Given the description of an element on the screen output the (x, y) to click on. 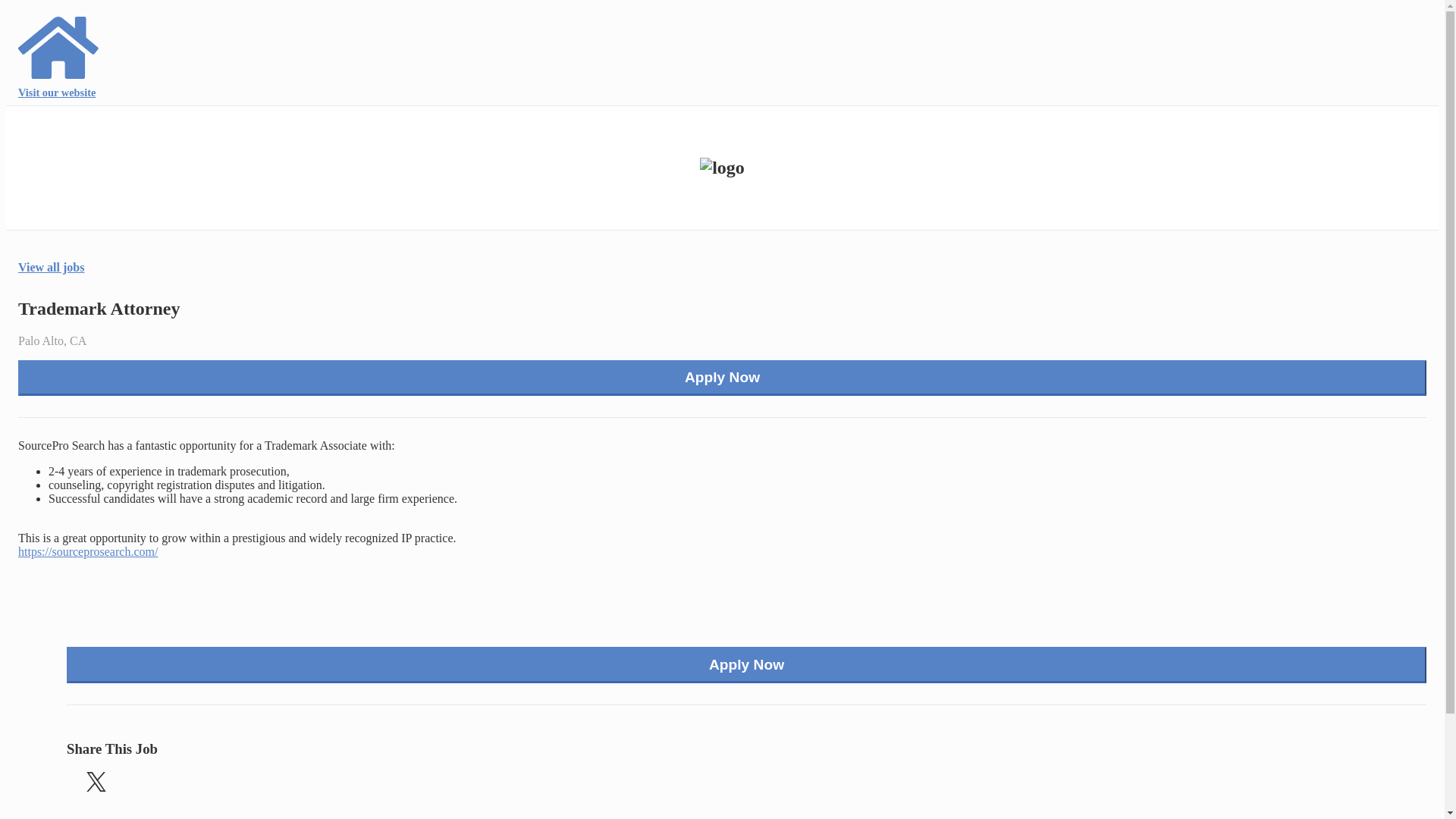
Apply Now (746, 665)
Visit our website (58, 55)
View all jobs (50, 267)
Apply Now (721, 378)
